Given the description of an element on the screen output the (x, y) to click on. 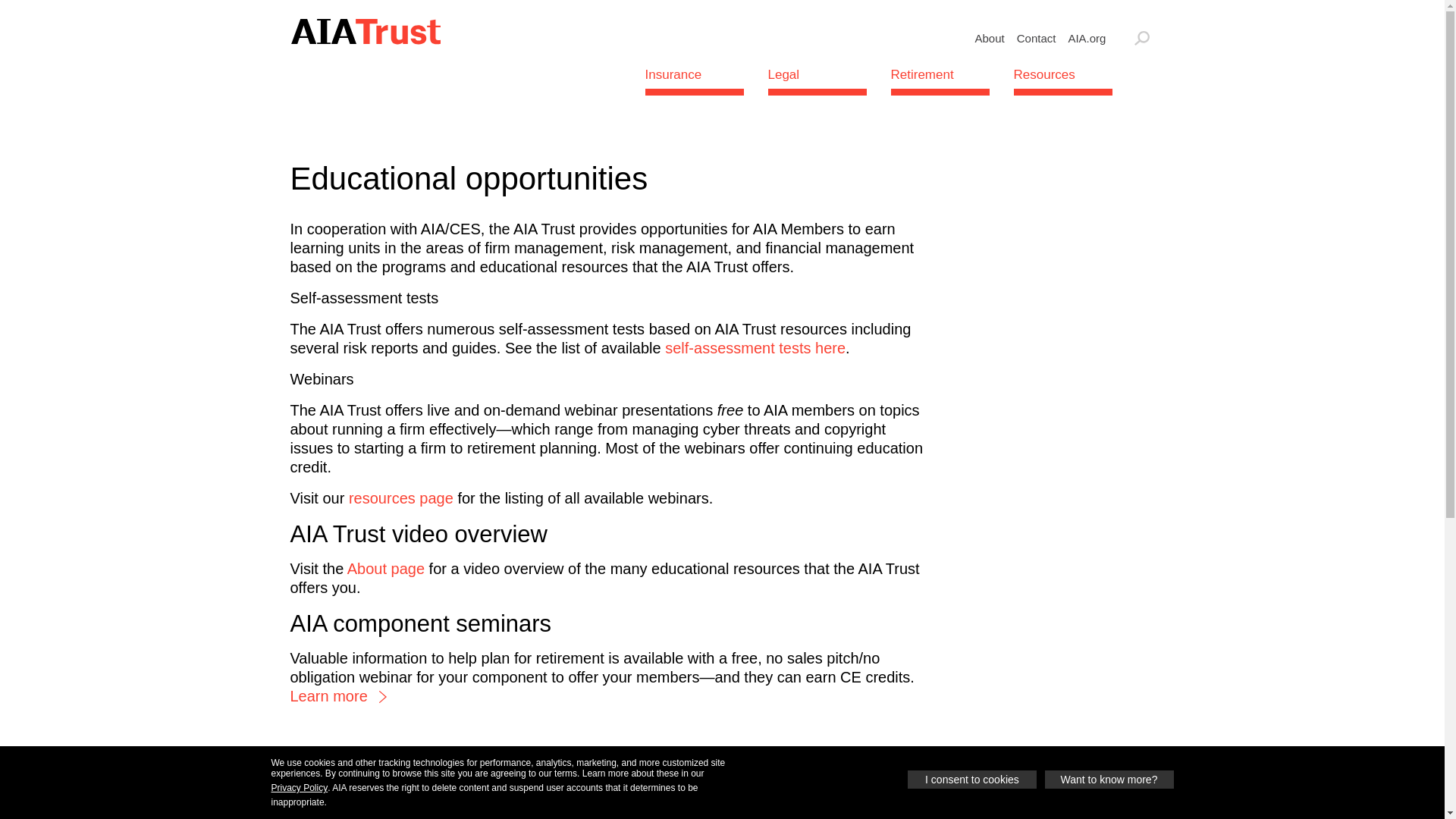
I consent to cookies (971, 779)
Resources (1062, 74)
Retirement (938, 74)
About page (386, 568)
Cookie Info (1418, 811)
self-assessment tests here (755, 347)
AIA.org (1086, 37)
Legal (816, 74)
newsletter (778, 804)
About (989, 37)
Want to know more? (1109, 779)
Learn more (331, 695)
Contact (1036, 37)
Privacy Policy (299, 787)
Search (1142, 38)
